Given the description of an element on the screen output the (x, y) to click on. 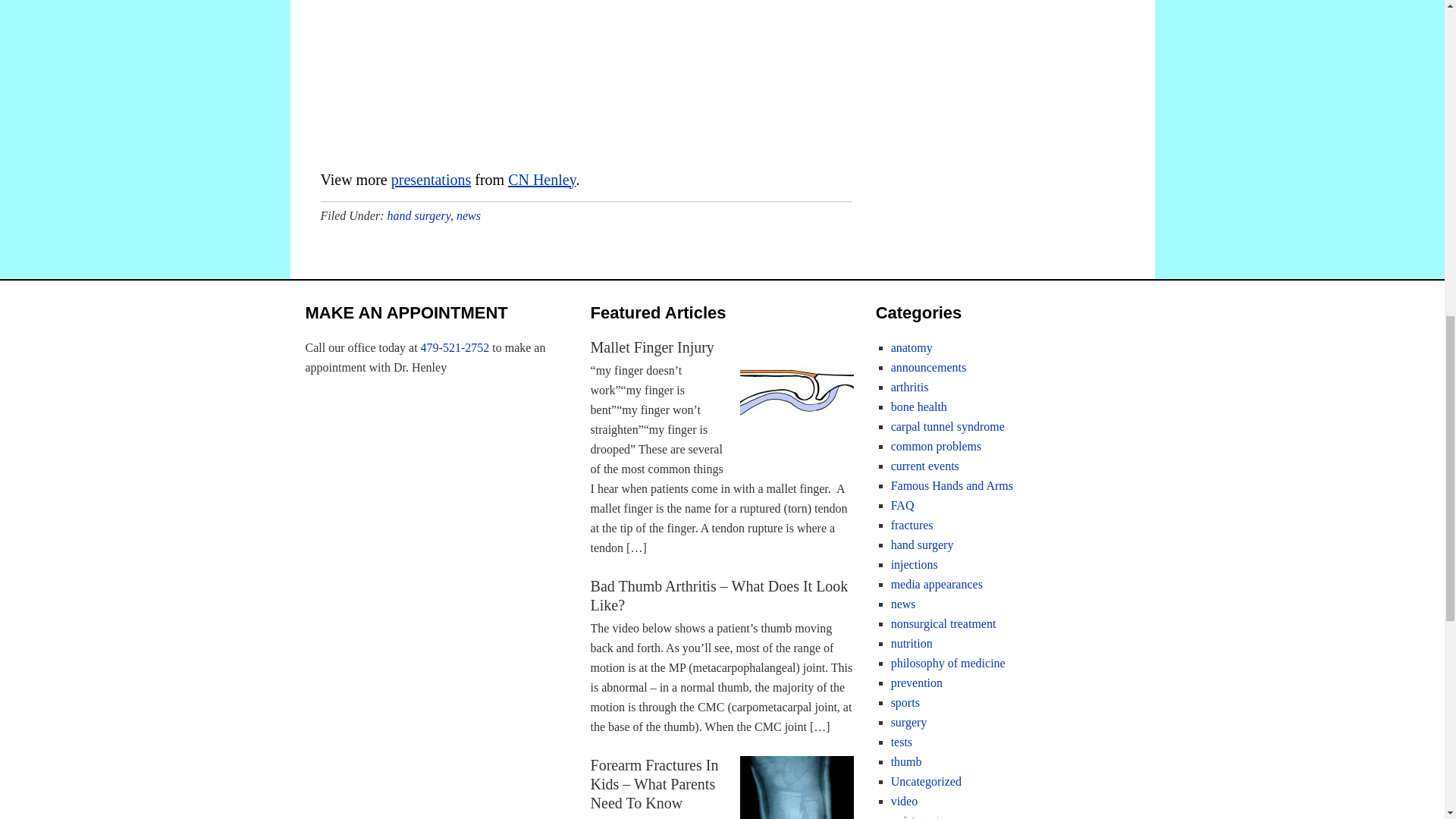
Mallet Finger Injury (652, 347)
CN Henley (541, 179)
hand surgery (418, 215)
news (468, 215)
479-521-2752 (454, 347)
presentations (431, 179)
